Given the description of an element on the screen output the (x, y) to click on. 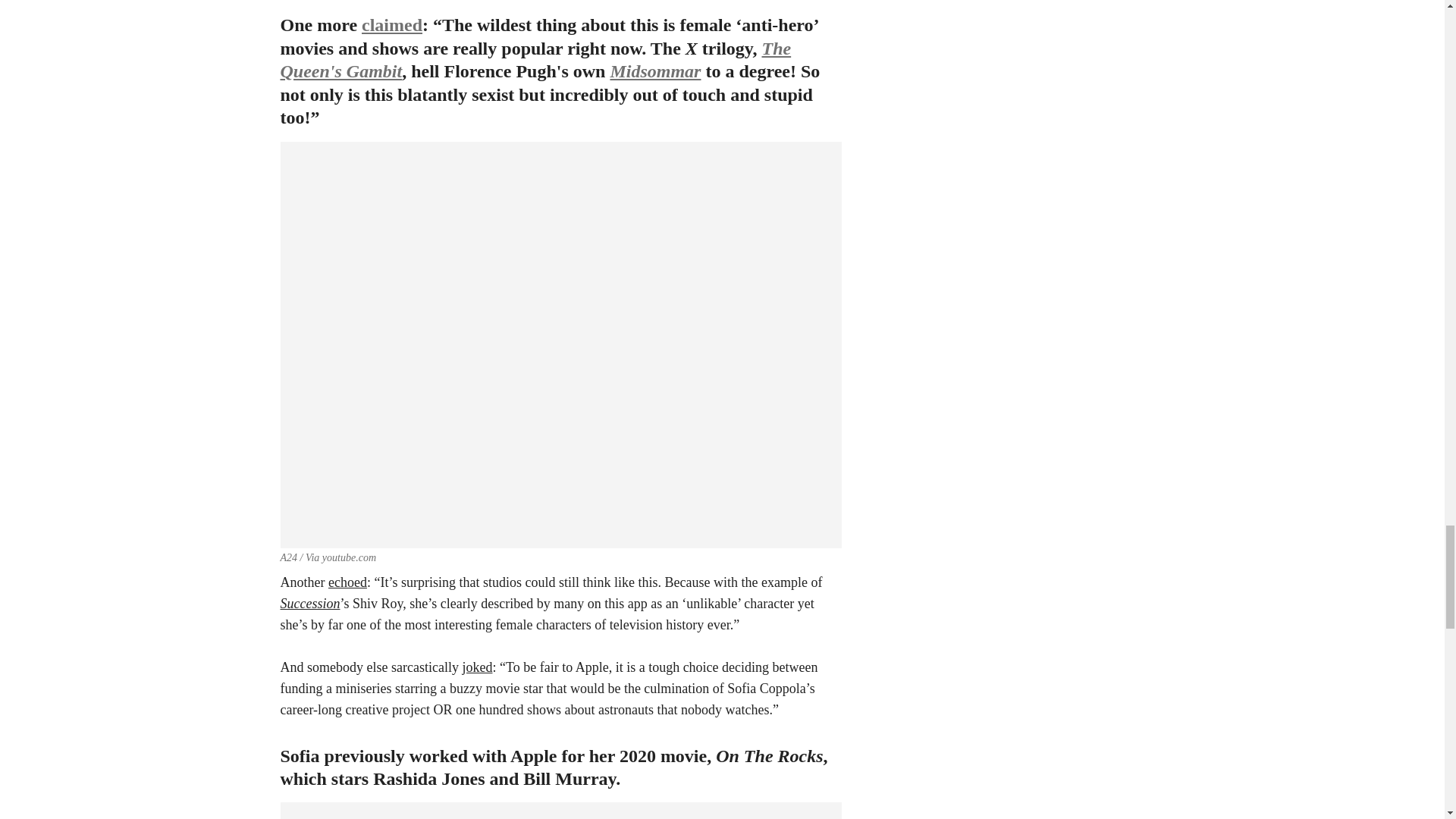
claimed (391, 25)
joked (476, 667)
Midsommar (655, 71)
Succession (310, 603)
echoed (347, 581)
youtube.com (348, 557)
The Queen's Gambit (536, 59)
